Given the description of an element on the screen output the (x, y) to click on. 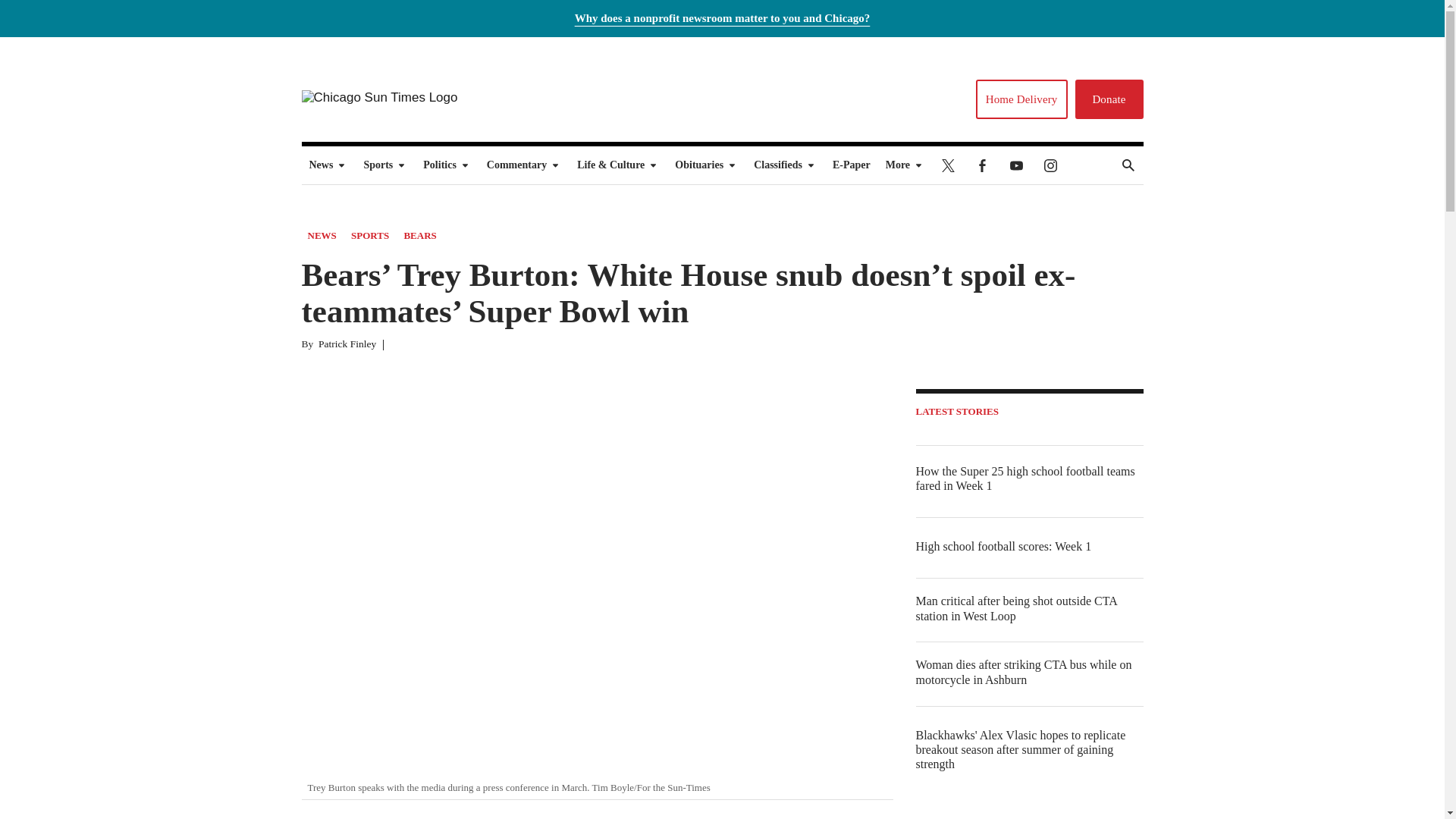
Donate (1108, 98)
Why does a nonprofit newsroom matter to you and Chicago? (722, 18)
Home Delivery (1021, 98)
